Given the description of an element on the screen output the (x, y) to click on. 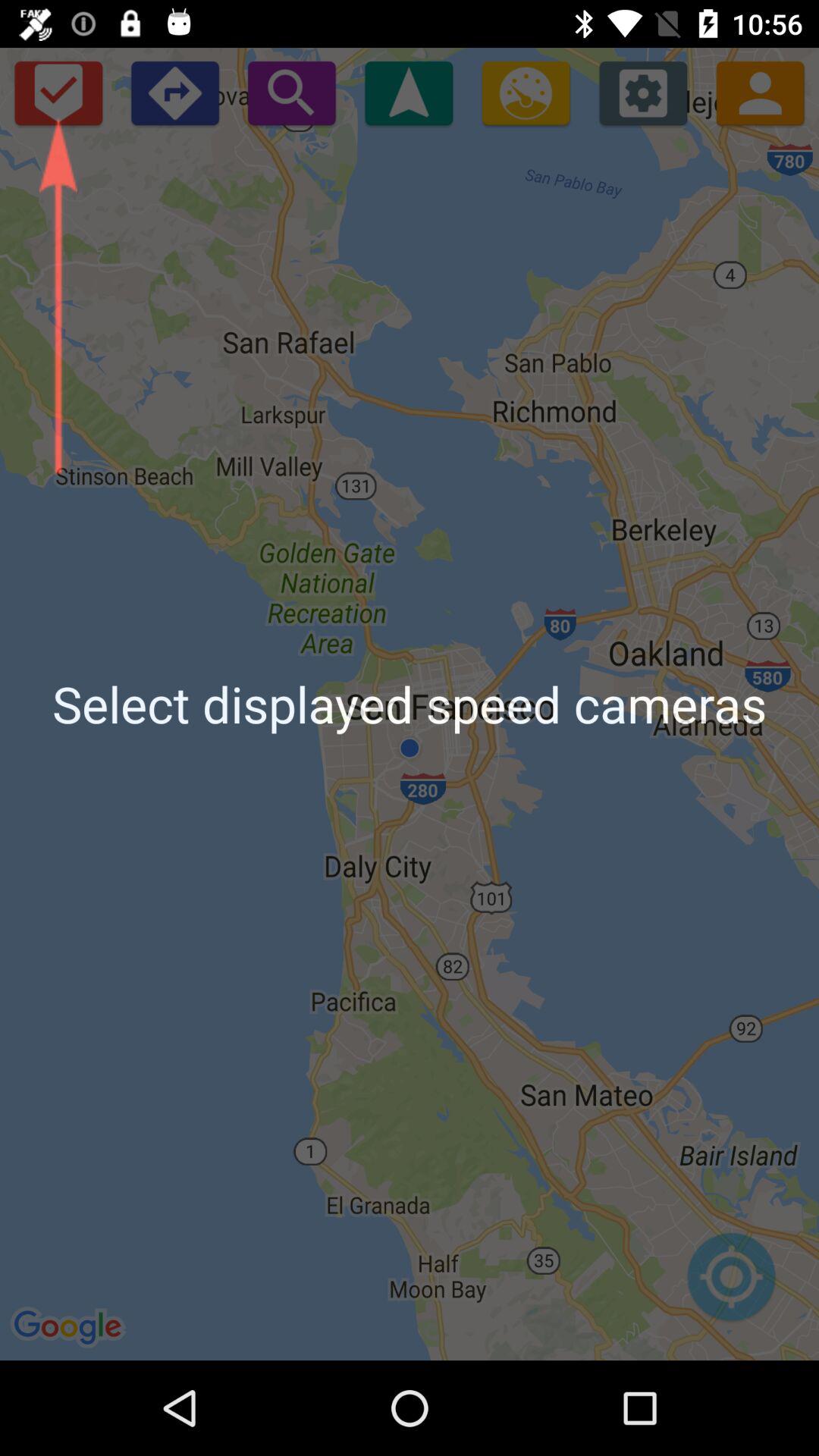
page up (408, 92)
